Given the description of an element on the screen output the (x, y) to click on. 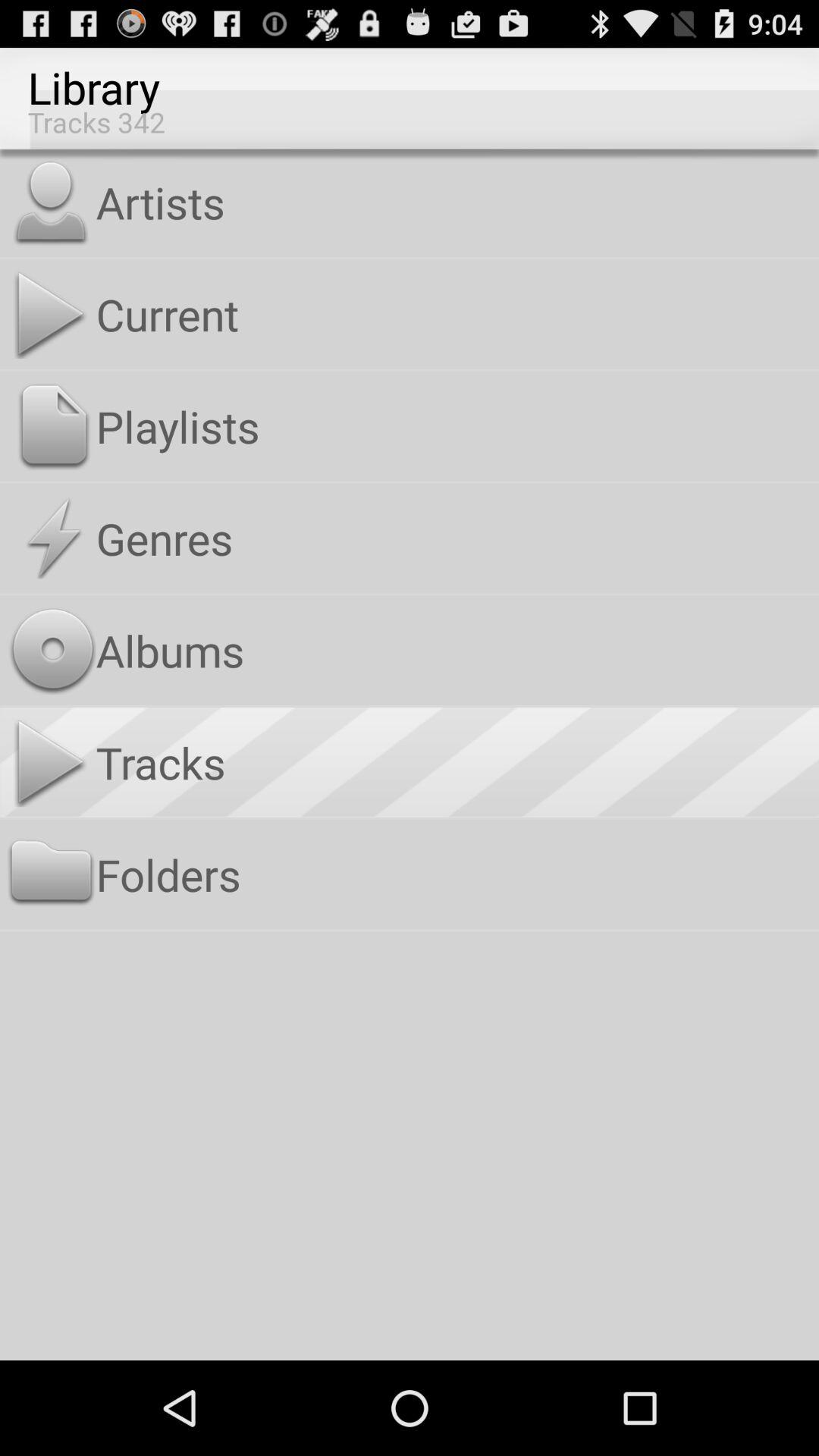
launch artists item (454, 201)
